Given the description of an element on the screen output the (x, y) to click on. 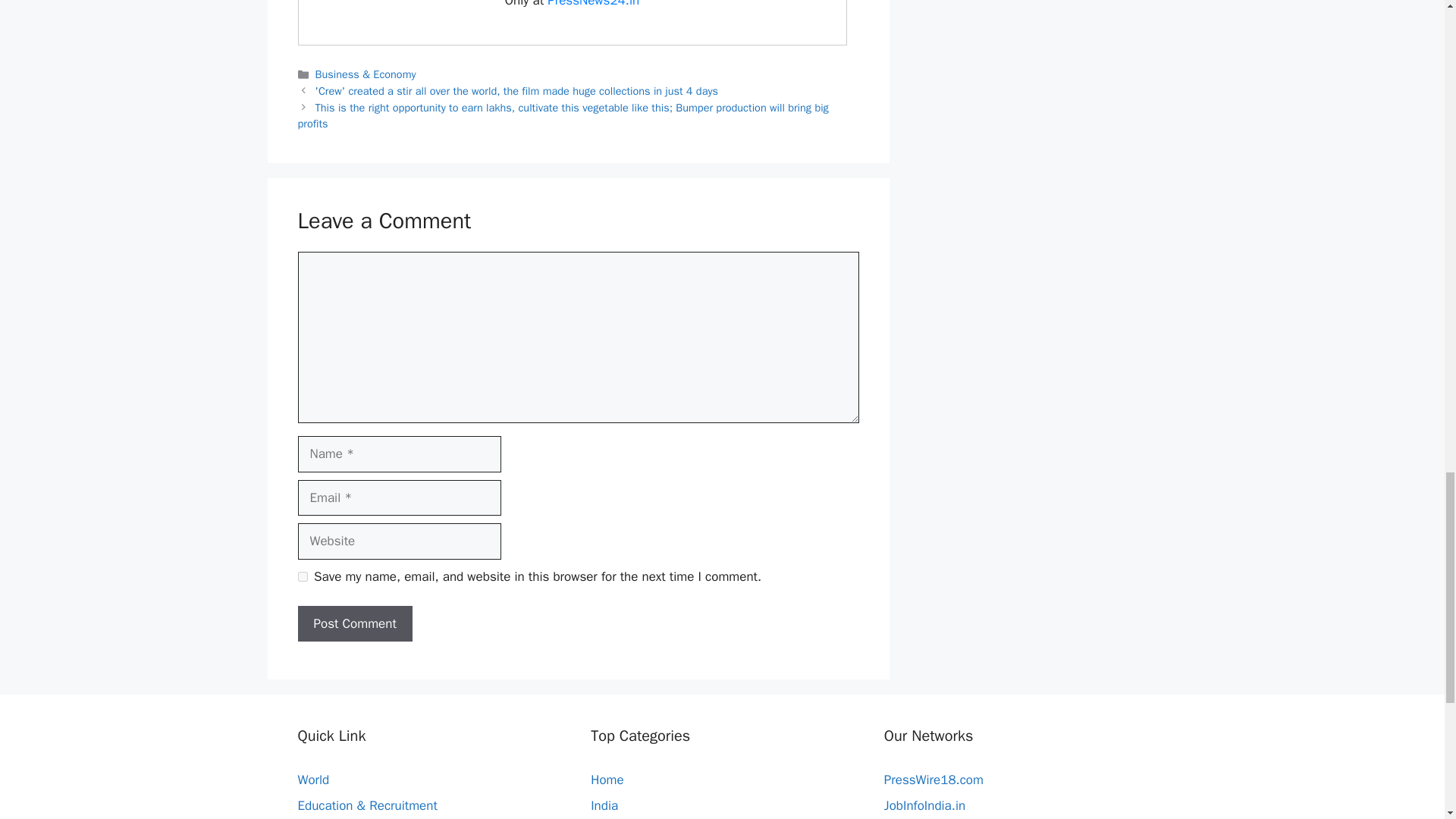
India (604, 805)
Post Comment (354, 624)
PressNews24.in (593, 4)
yes (302, 576)
Post Comment (354, 624)
World (313, 779)
Home (607, 779)
